Given the description of an element on the screen output the (x, y) to click on. 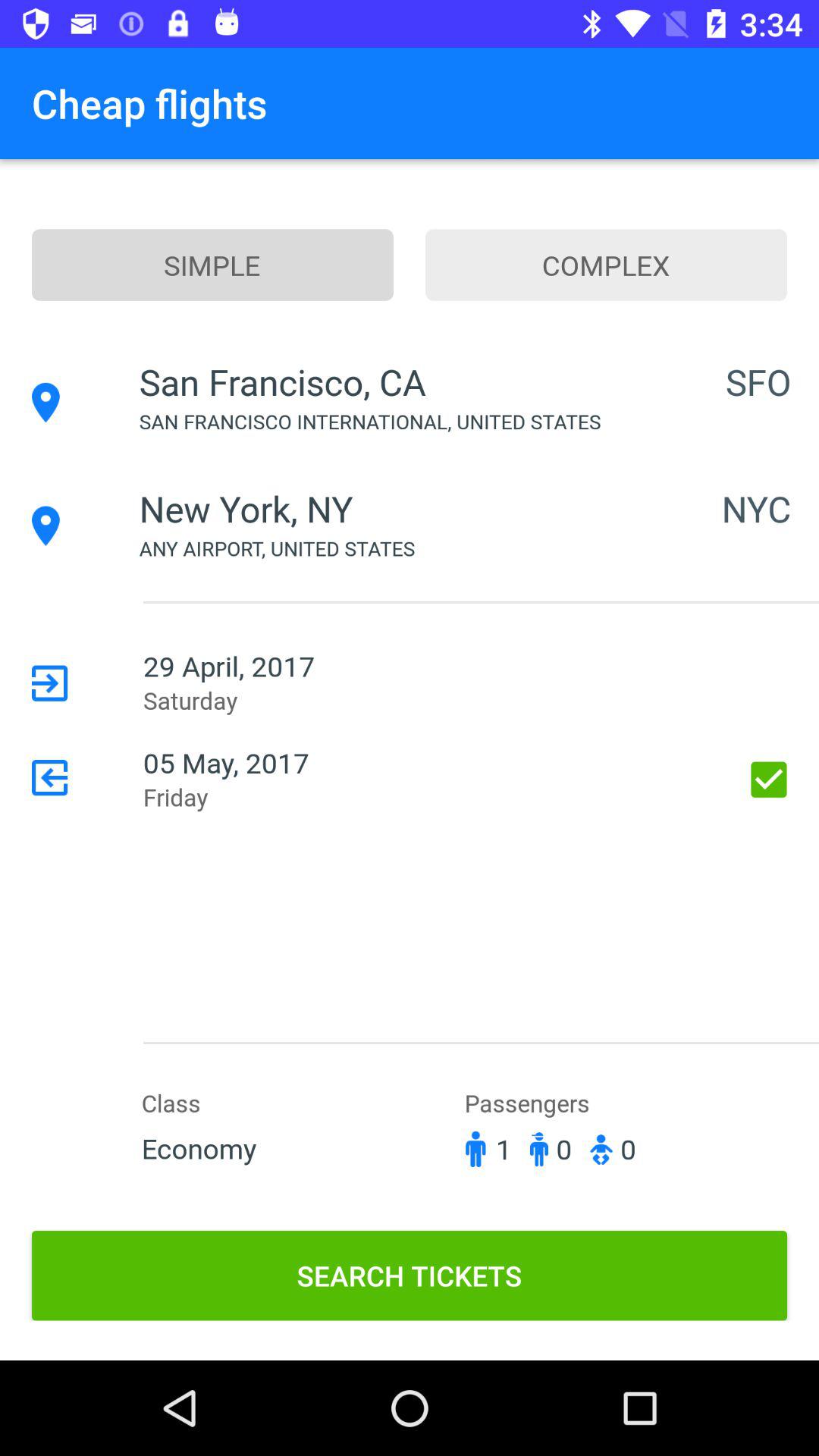
launch the icon above the san francisco, ca icon (212, 264)
